Given the description of an element on the screen output the (x, y) to click on. 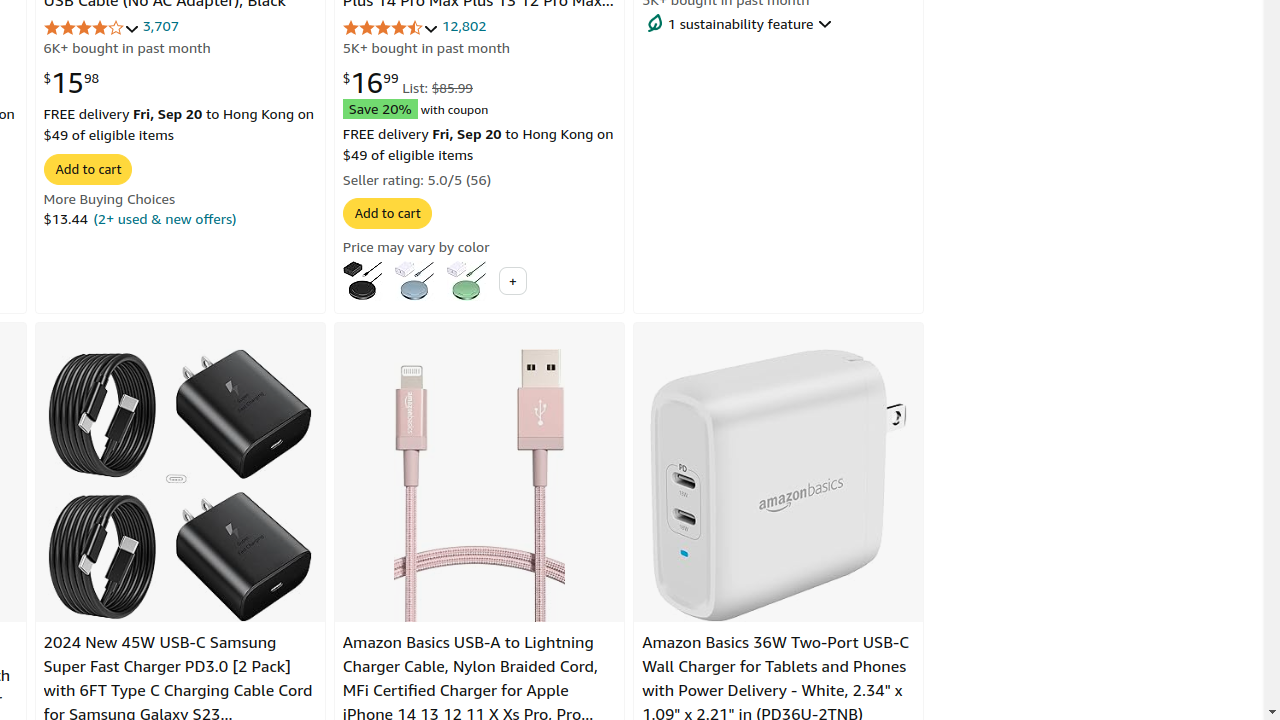
Black Element type: link (362, 280)
Green Element type: link (466, 280)
+ Element type: link (512, 281)
Amazon Basics USB-A to Lightning Charger Cable, Nylon Braided Cord, MFi Certified Charger for Apple iPhone 14 13 12 11 X X... Element type: link (479, 485)
4.2 out of 5 stars Element type: push-button (91, 27)
